Given the description of an element on the screen output the (x, y) to click on. 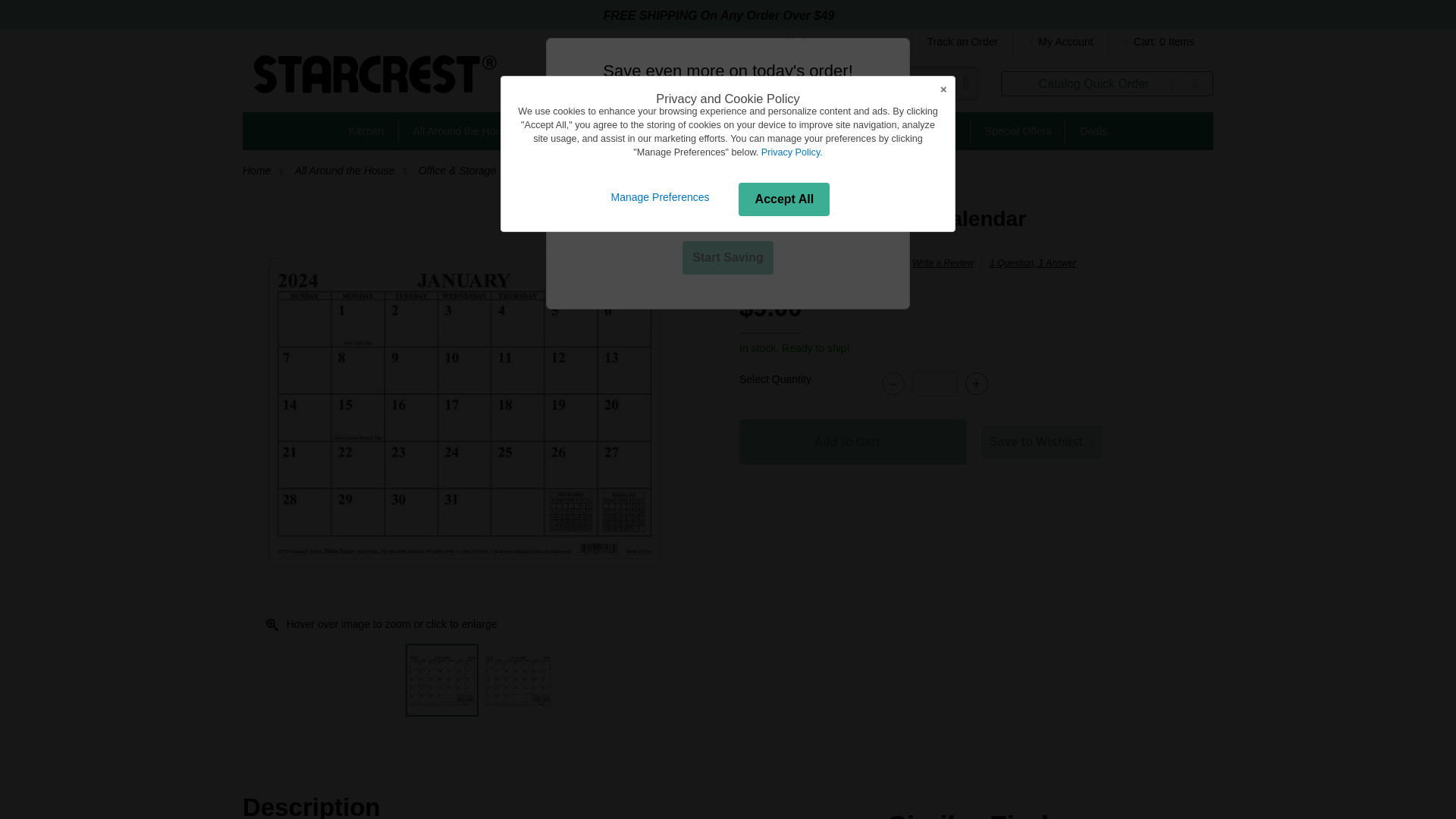
Star Rating: 4.6 (773, 264)
Decrease (892, 383)
Customer Service Help (832, 41)
My Account (1060, 41)
Homepage Link (375, 79)
Track an Order (962, 41)
Cart: 0 Items (1155, 41)
Need help? 1-877-996-8646 (832, 41)
Review Count: 37 (819, 262)
Increase (975, 383)
